Given the description of an element on the screen output the (x, y) to click on. 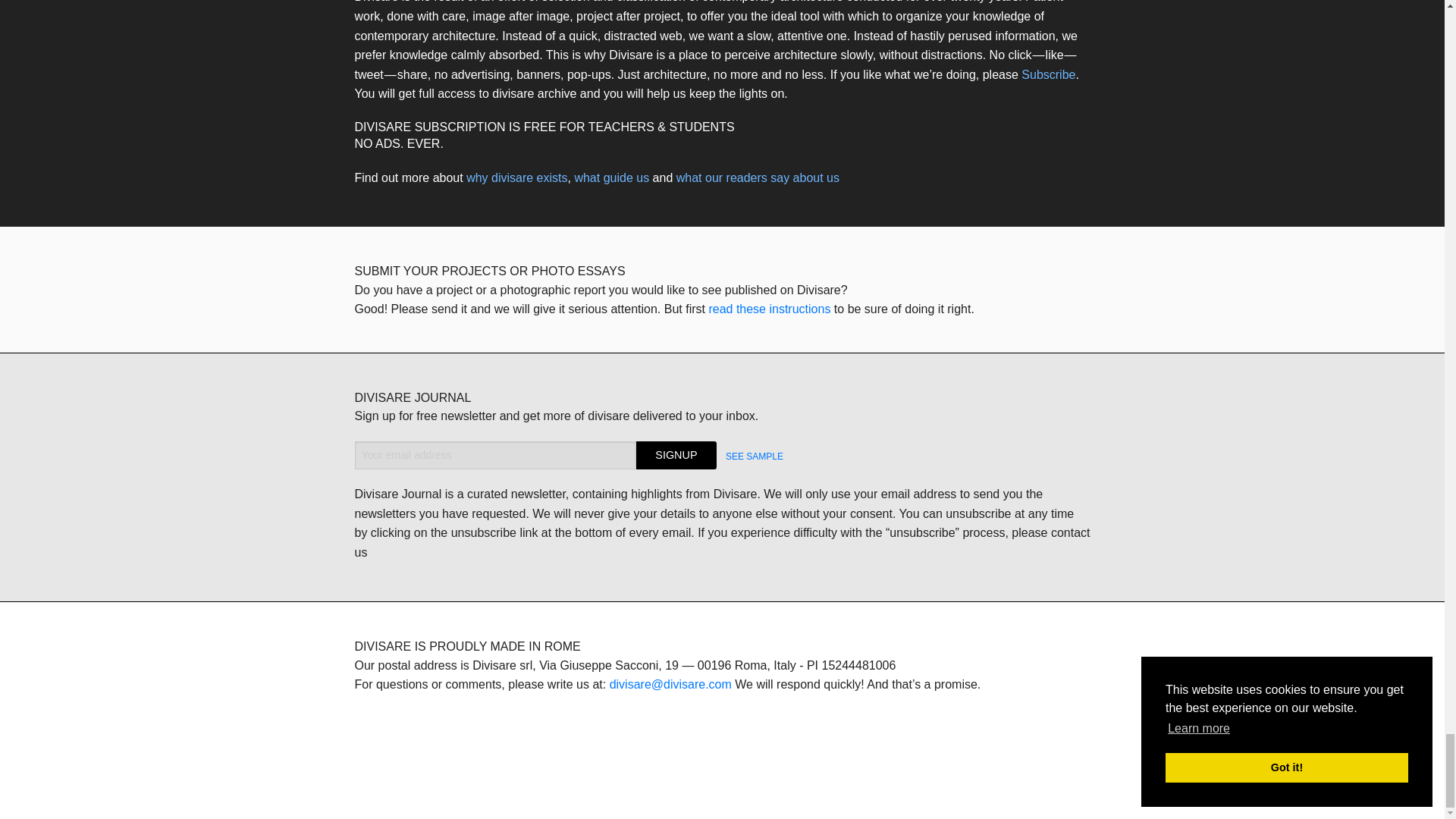
Signup (676, 455)
